Given the description of an element on the screen output the (x, y) to click on. 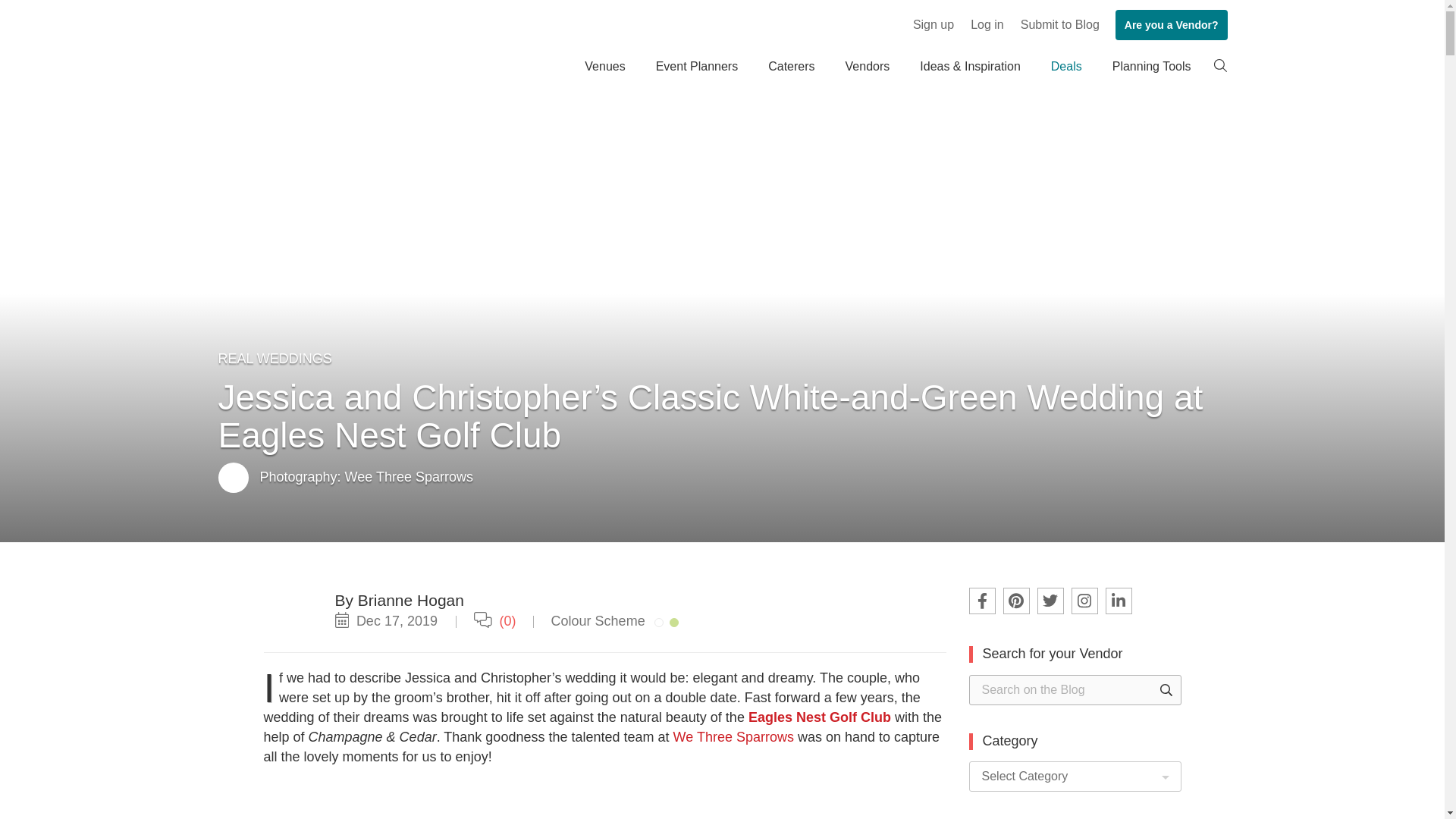
Sign up (933, 24)
Submit to Blog (1059, 24)
Are you a Vendor? (1171, 24)
Log in (986, 24)
Posts by Brianne Hogan (411, 599)
